Given the description of an element on the screen output the (x, y) to click on. 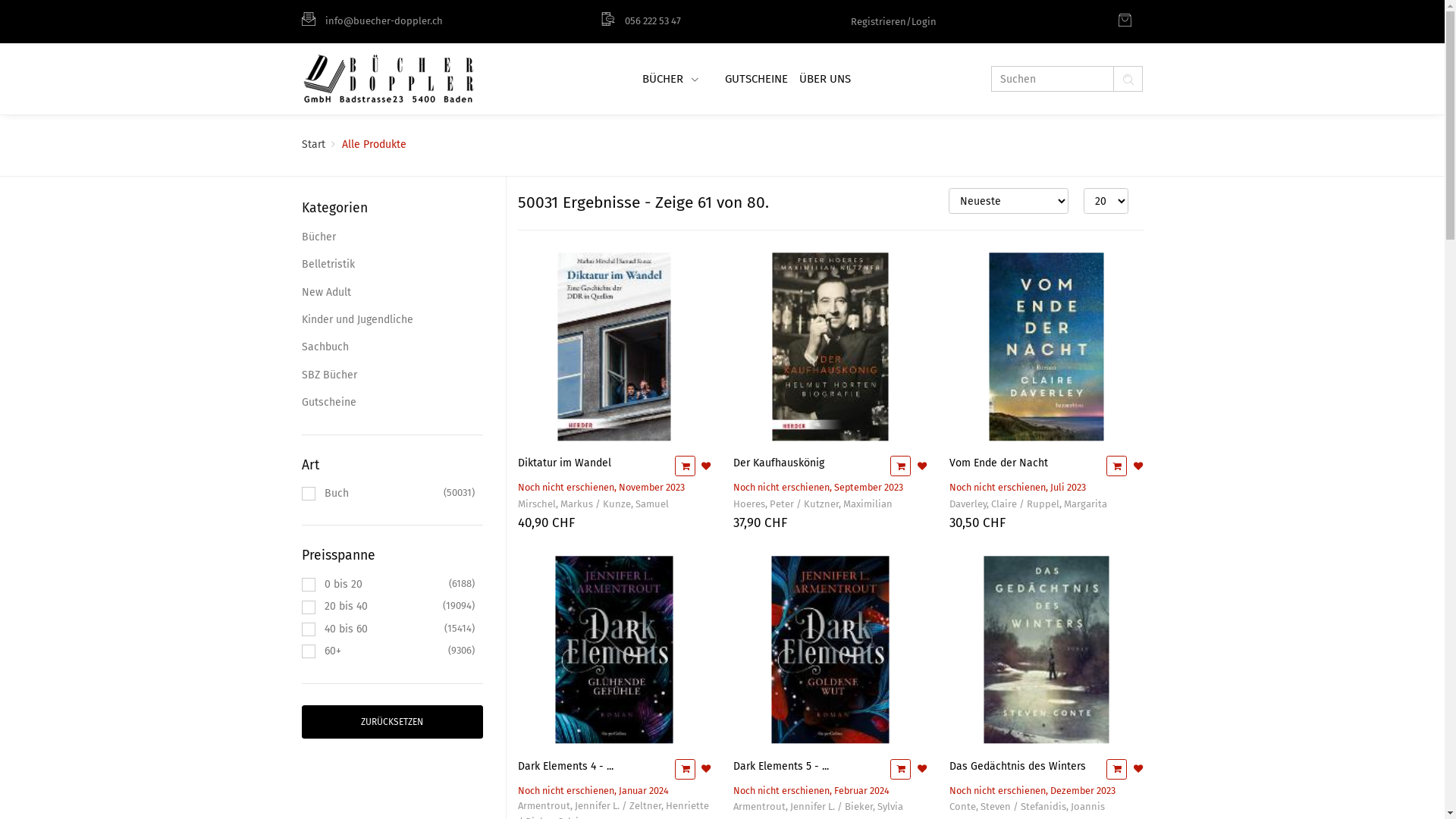
Conte, Steven / Stefanidis, Joannis Element type: text (1026, 807)
Dark Elements 4 - ... Element type: text (564, 765)
Gutscheine Element type: text (392, 402)
Start Element type: text (313, 144)
Vom Ende der Nacht Element type: text (998, 462)
Hoeres, Peter / Kutzner, Maximilian Element type: text (812, 504)
New Adult Element type: text (392, 292)
Diktatur im Wandel Element type: text (563, 462)
Dark Elements 5 - ... Element type: text (780, 765)
GUTSCHEINE Element type: text (754, 78)
Registrieren/Login Element type: text (893, 20)
Armentrout, Jennifer L. / Bieker, Sylvia Element type: text (818, 807)
Sachbuch Element type: text (392, 346)
Mirschel, Markus / Kunze, Samuel Element type: text (592, 504)
Kinder und Jugendliche Element type: text (392, 319)
Daverley, Claire / Ruppel, Margarita Element type: text (1028, 504)
Belletristik Element type: text (392, 264)
